Given the description of an element on the screen output the (x, y) to click on. 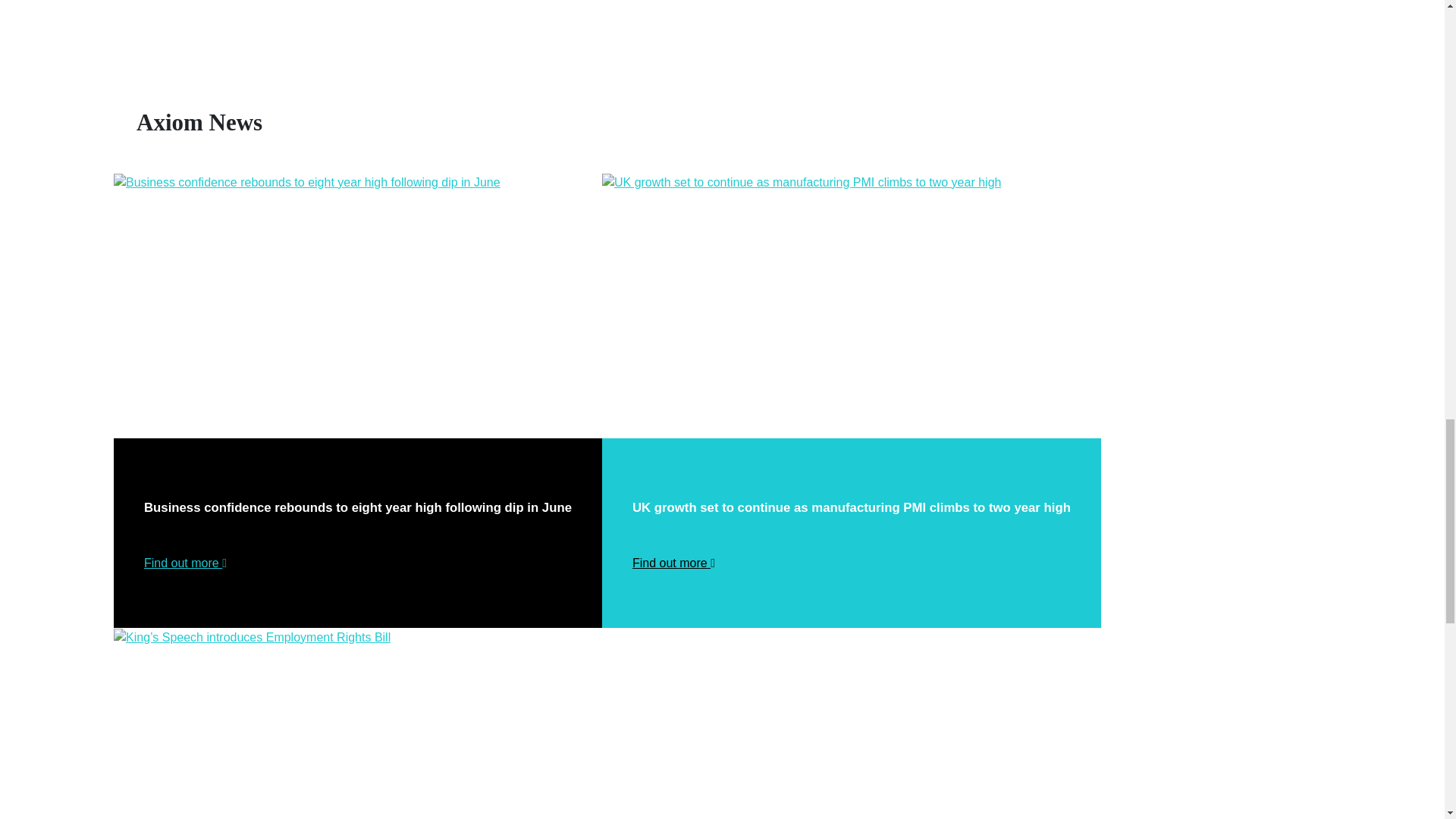
Find out more (672, 562)
Find out more (185, 562)
